Given the description of an element on the screen output the (x, y) to click on. 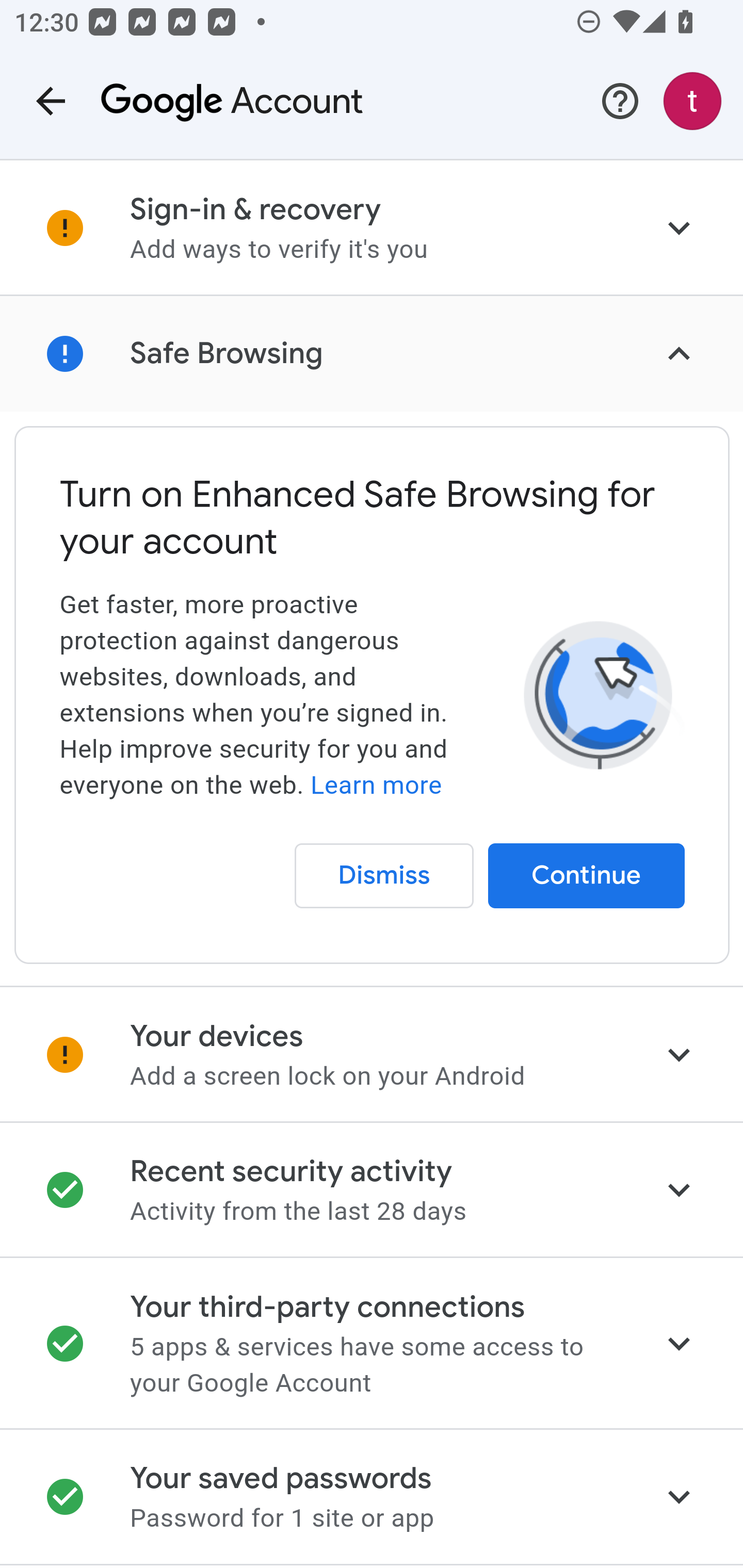
Navigate up (50, 101)
Help & feedback (619, 101)
Safe Browsing (371, 354)
Learn more (376, 784)
Dismiss (384, 875)
Continue (586, 875)
Your saved passwords Password for 1 site or app (371, 1497)
